Given the description of an element on the screen output the (x, y) to click on. 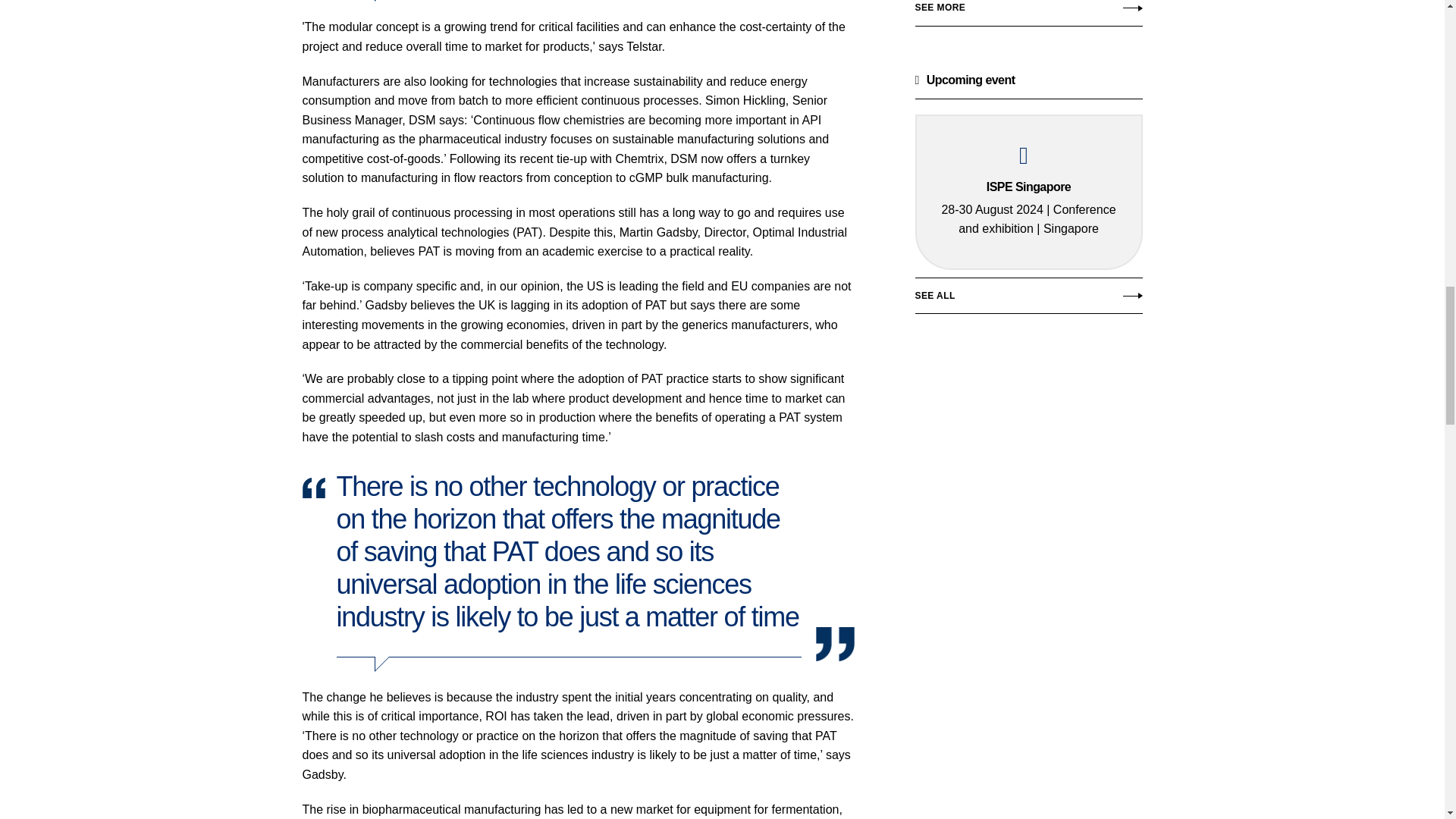
SEE MORE (1027, 20)
